Given the description of an element on the screen output the (x, y) to click on. 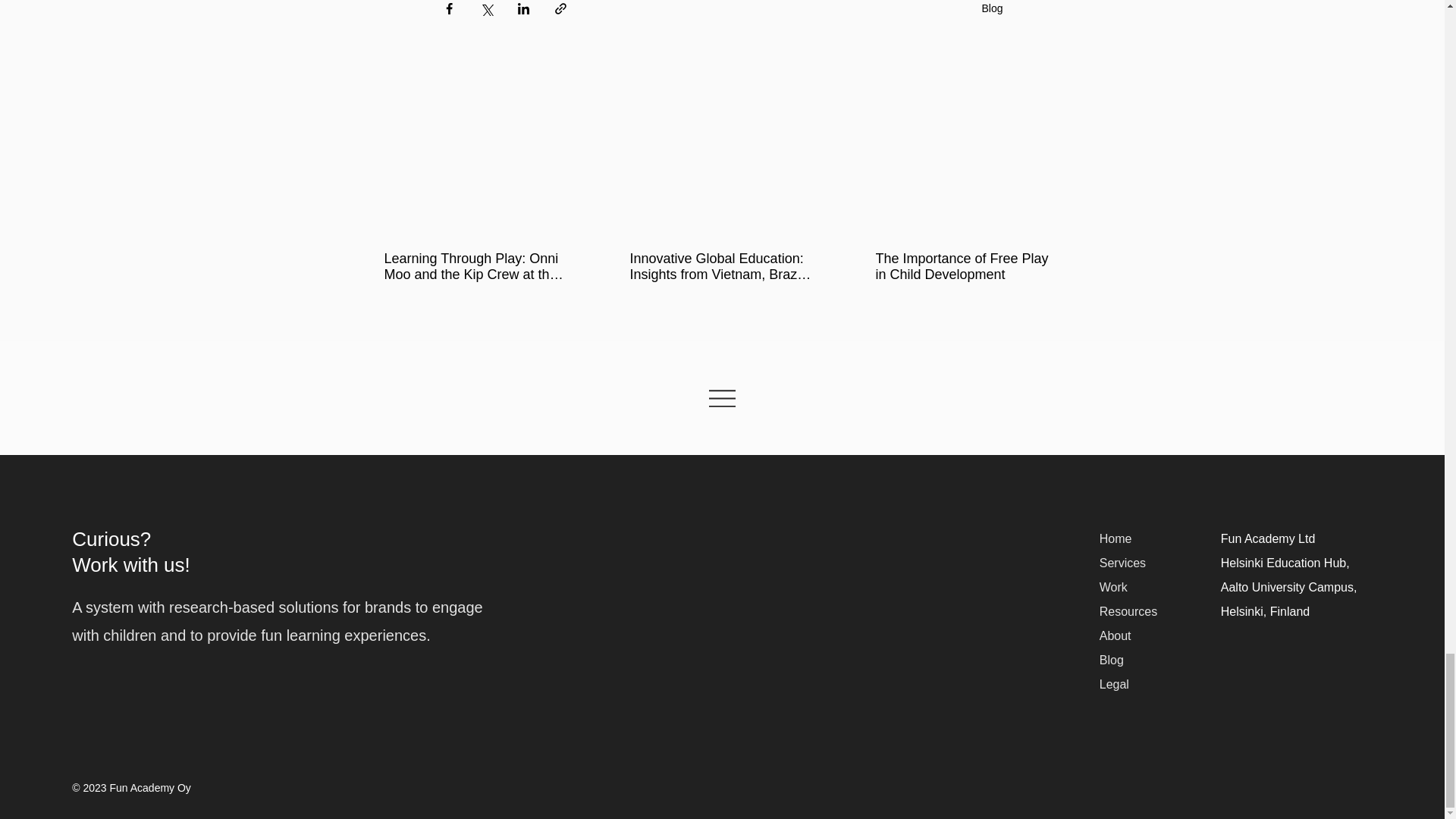
Resources (1128, 611)
Legal (1114, 684)
Blog (992, 8)
Home (1115, 538)
Services (1122, 562)
Work (1112, 586)
The Importance of Free Play in Child Development (966, 266)
About (1115, 635)
